Given the description of an element on the screen output the (x, y) to click on. 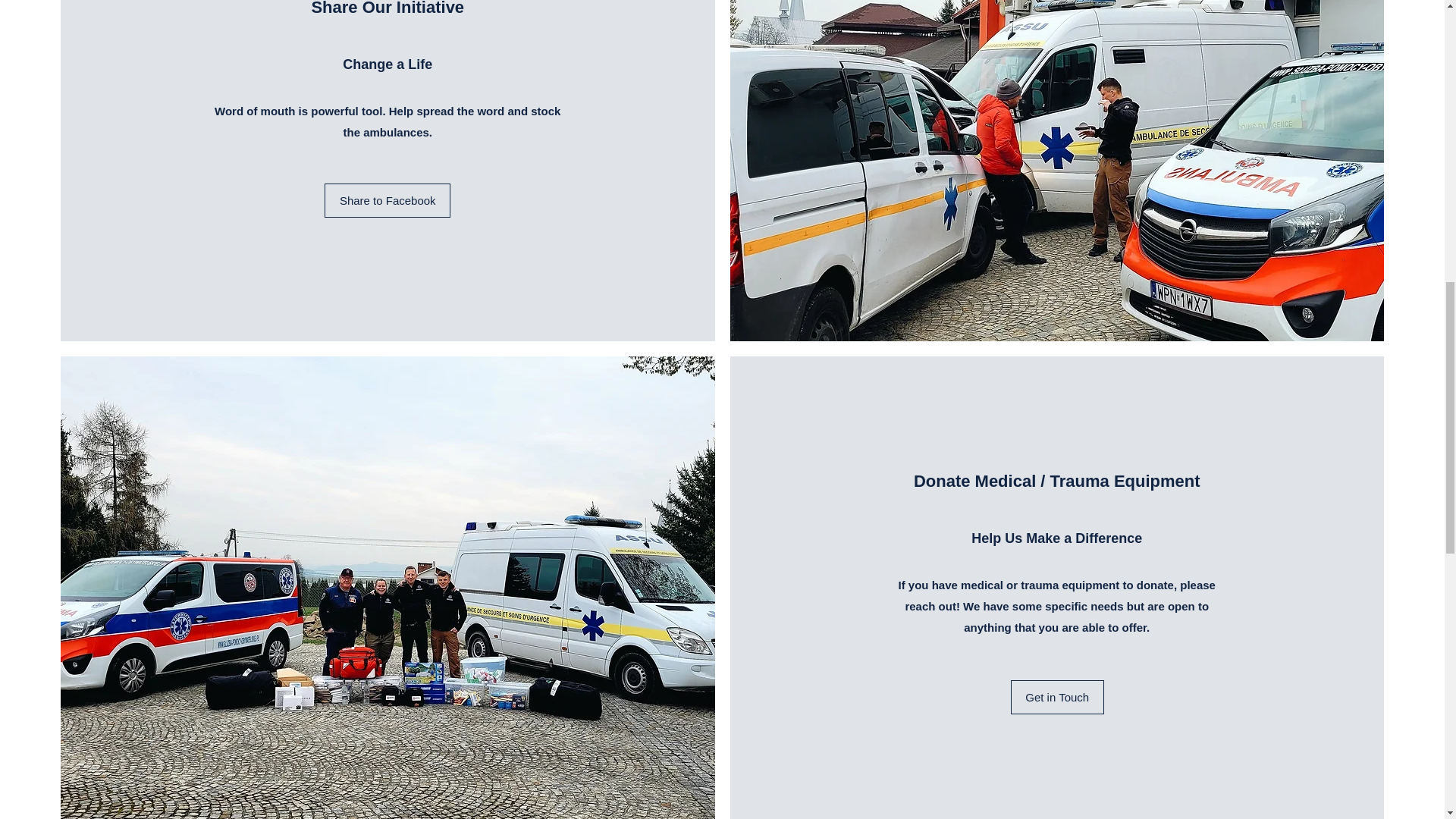
Get in Touch (1056, 697)
Share to Facebook (386, 200)
